Given the description of an element on the screen output the (x, y) to click on. 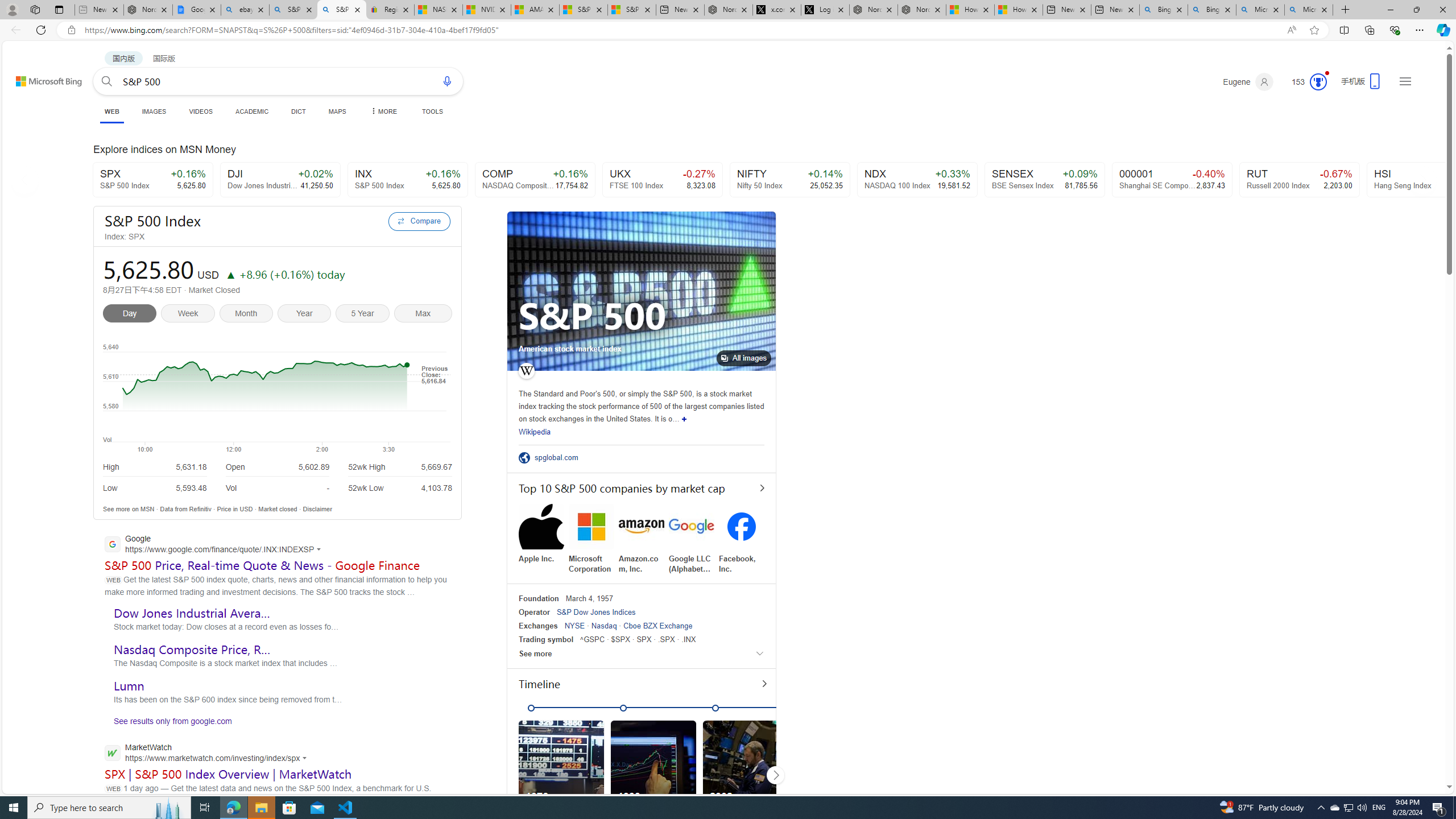
Search button (106, 80)
Settings and quick links (1404, 80)
TOOLS (431, 111)
New tab - Sleeping (98, 9)
Search more (1423, 753)
Official Site (526, 457)
S&P 500 Price, Real-time Quote & News - Google Finance (262, 564)
Disclaimer (316, 508)
INX+0.16%S&P 500 Index5,625.80 (407, 179)
S&P Dow Jones Indices (596, 611)
NDX +0.33% NASDAQ 100 Index 19,581.52 (916, 179)
